Given the description of an element on the screen output the (x, y) to click on. 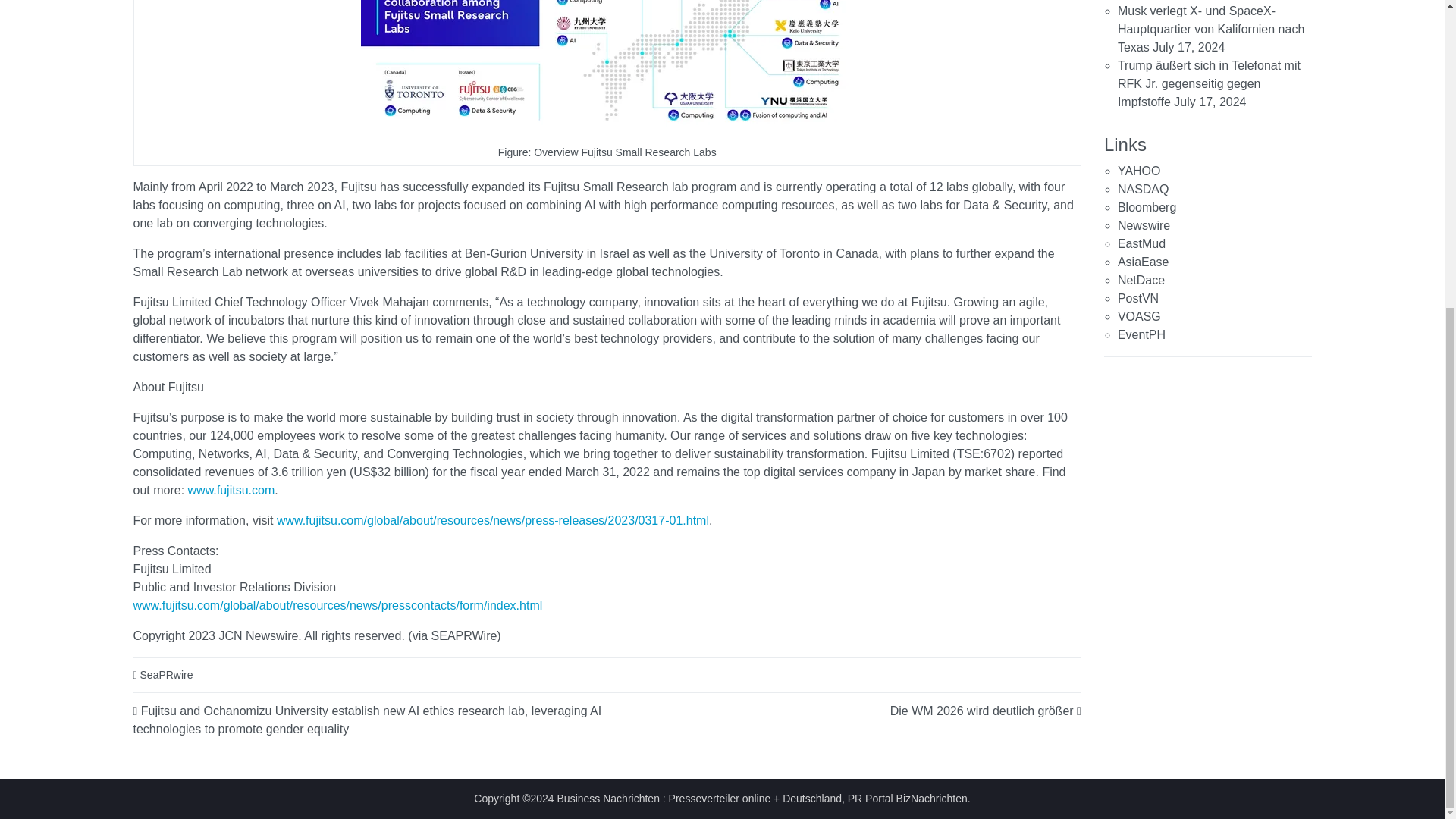
SeaPRwire (166, 674)
EastMud (1142, 243)
www.fujitsu.com (231, 489)
NASDAQ (1143, 188)
Newswire (1144, 225)
VOASG (1139, 316)
Bloomberg (1147, 206)
EventPH (1142, 334)
YAHOO (1139, 170)
PostVN (1138, 297)
NetDace (1141, 279)
AsiaEase (1143, 261)
